Given the description of an element on the screen output the (x, y) to click on. 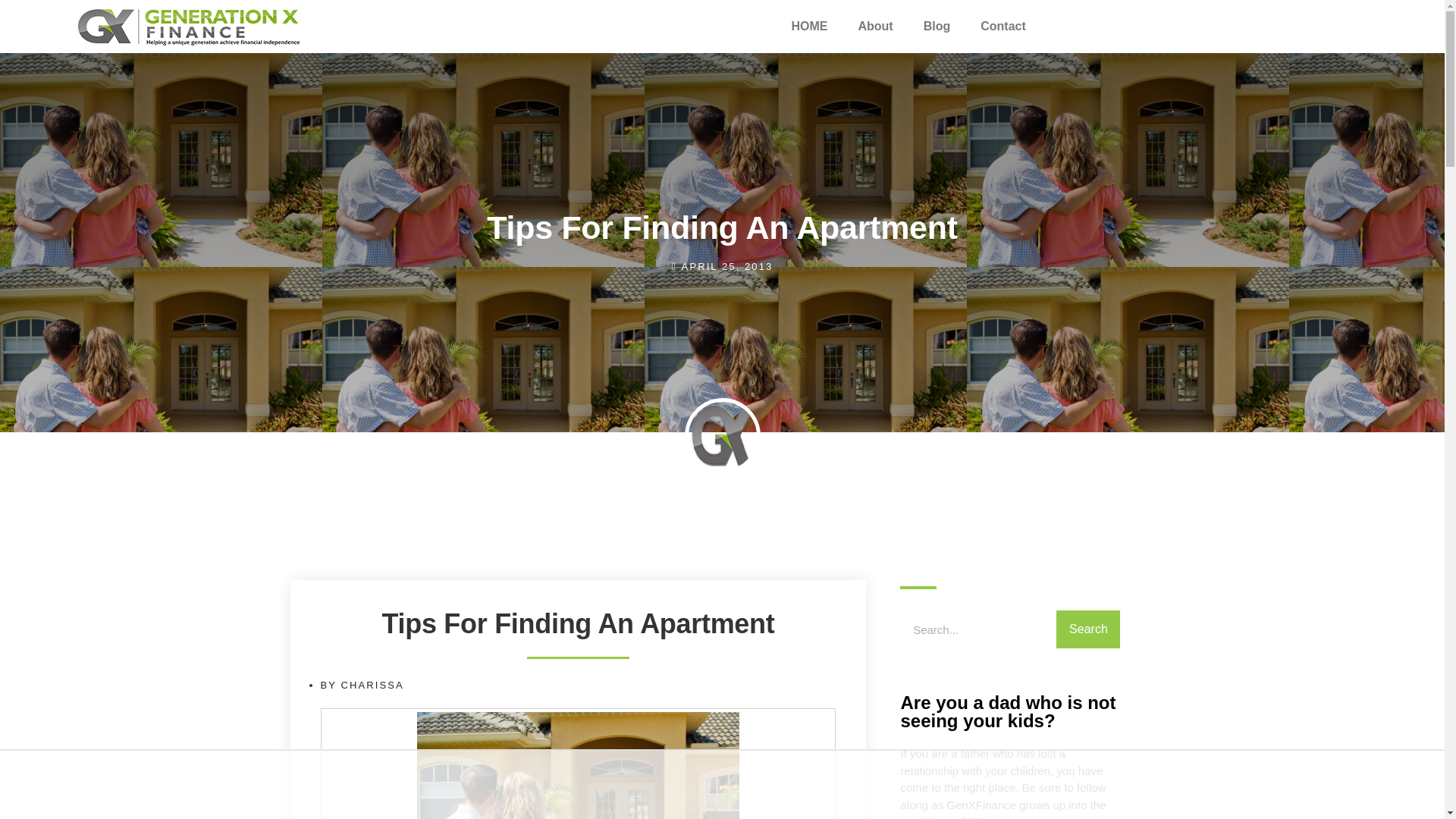
Search (978, 629)
Contact (1003, 26)
Search (1088, 629)
Search (1088, 629)
APRIL 25, 2013 (722, 266)
BY CHARISSA (361, 685)
Blog (937, 26)
About (875, 26)
HOME (809, 26)
